Given the description of an element on the screen output the (x, y) to click on. 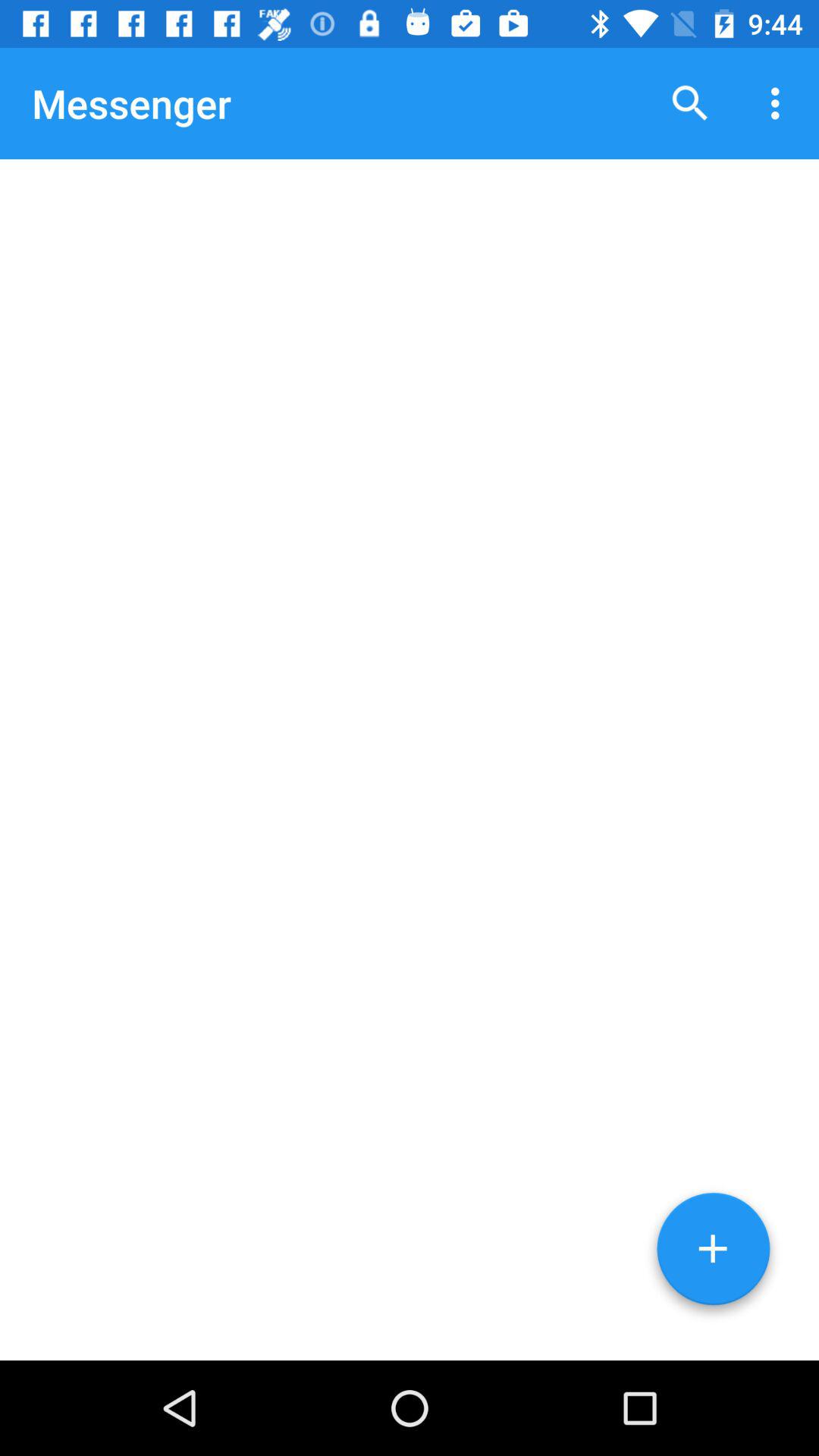
tap item at the bottom right corner (713, 1254)
